Given the description of an element on the screen output the (x, y) to click on. 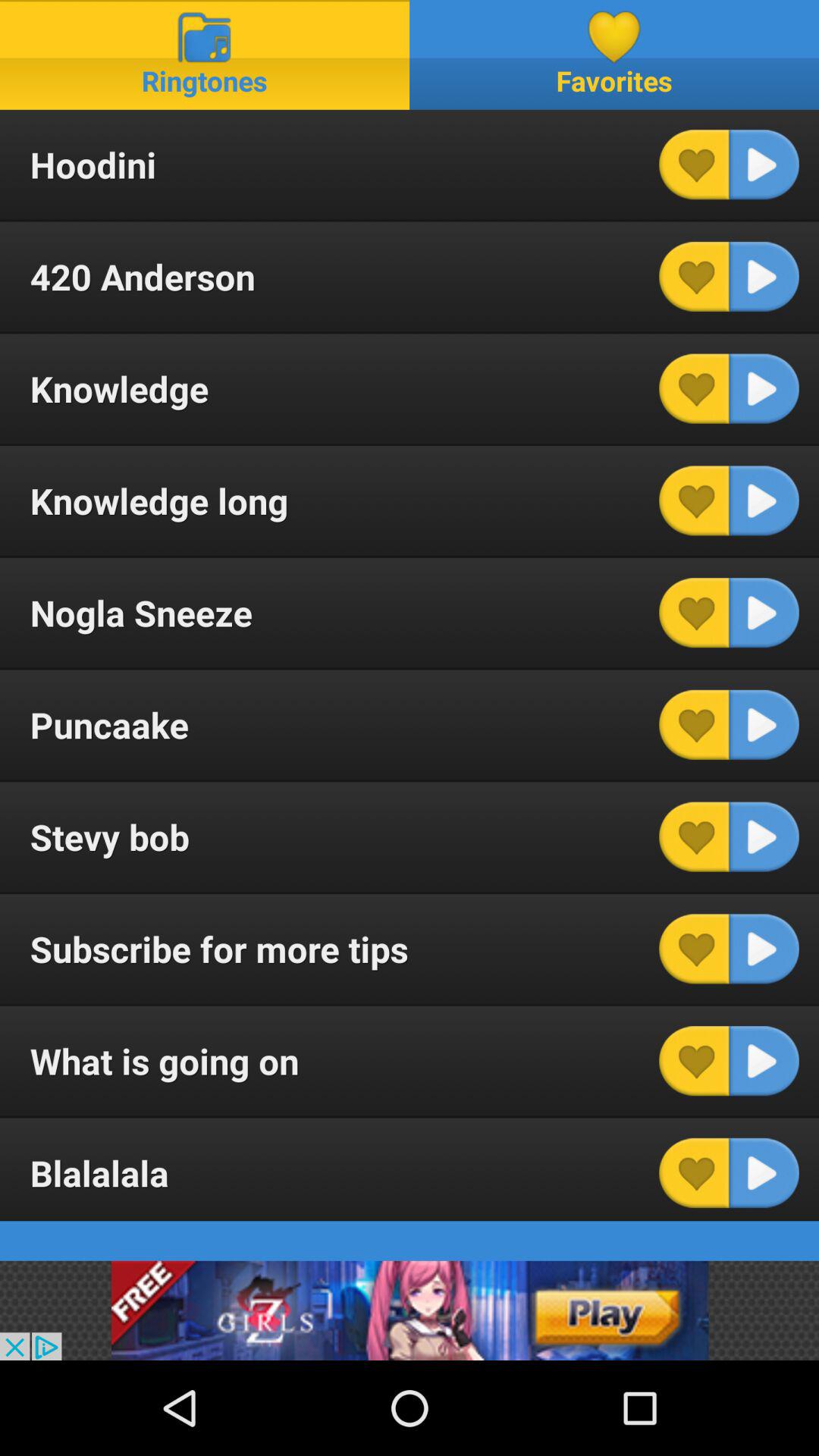
play list option (764, 500)
